Given the description of an element on the screen output the (x, y) to click on. 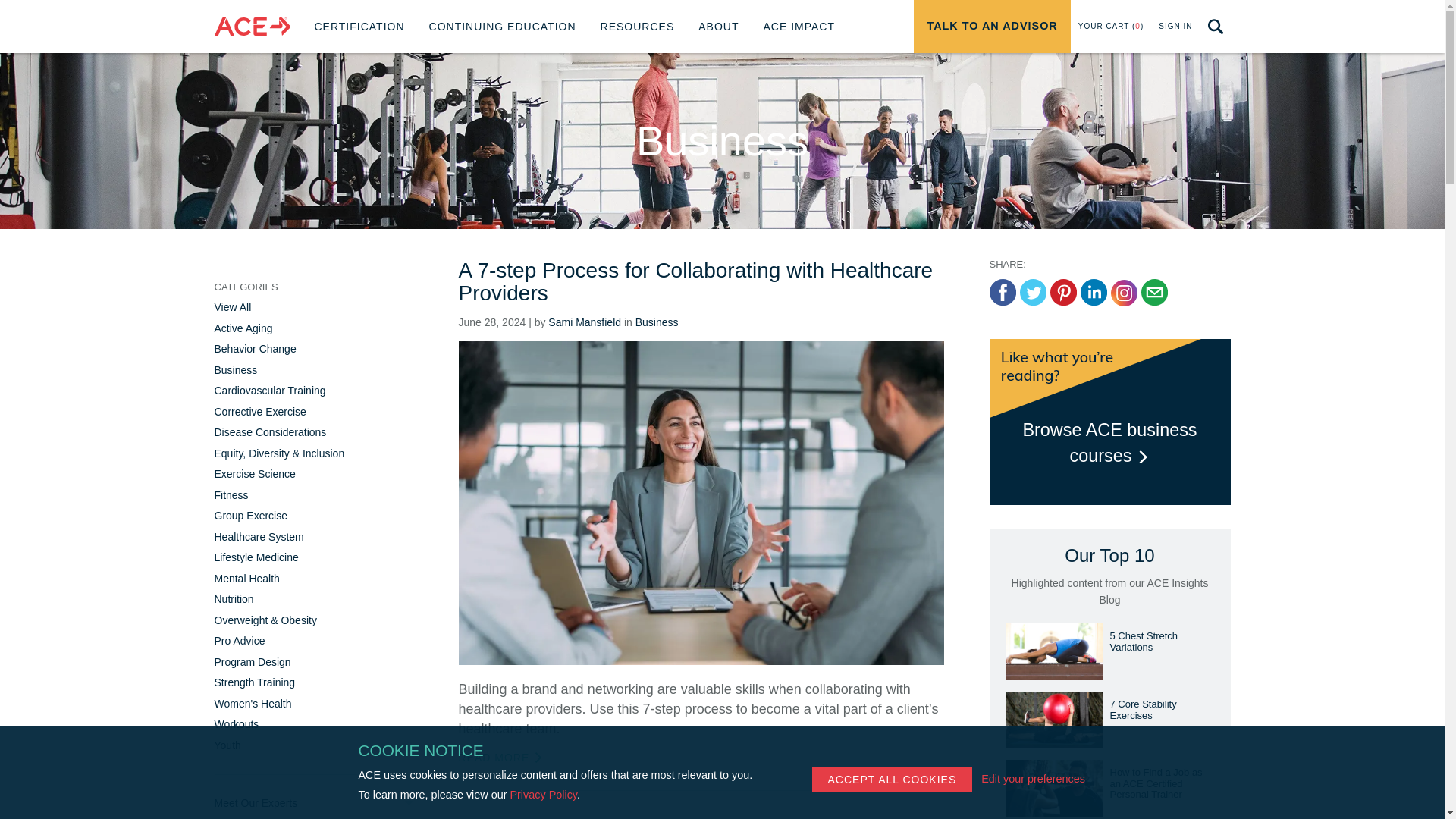
Business (656, 322)
RESOURCES (502, 26)
ACE Fitness (992, 26)
CERTIFICATION (798, 26)
